Given the description of an element on the screen output the (x, y) to click on. 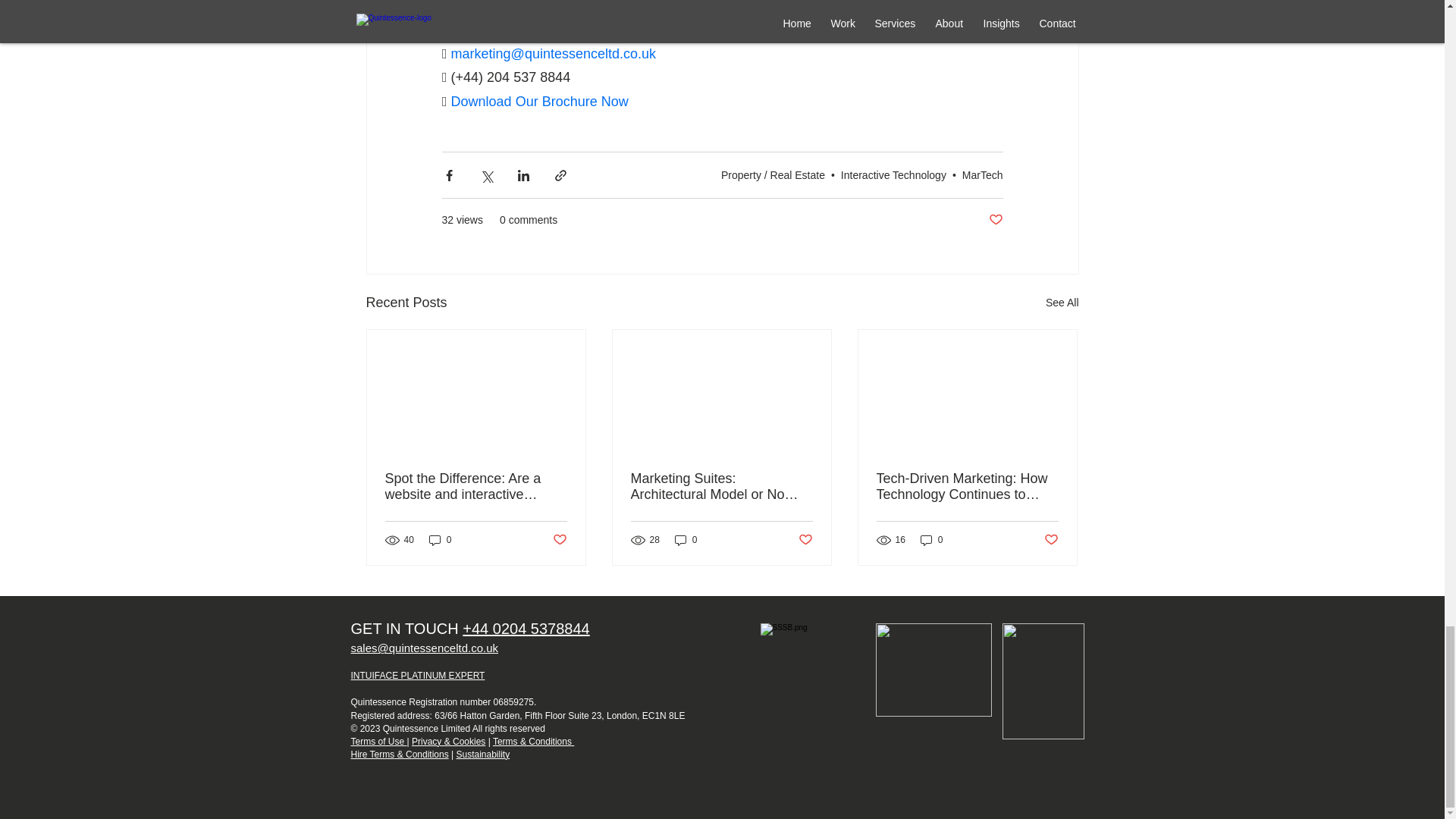
Download Our Brochure Now (538, 101)
